Given the description of an element on the screen output the (x, y) to click on. 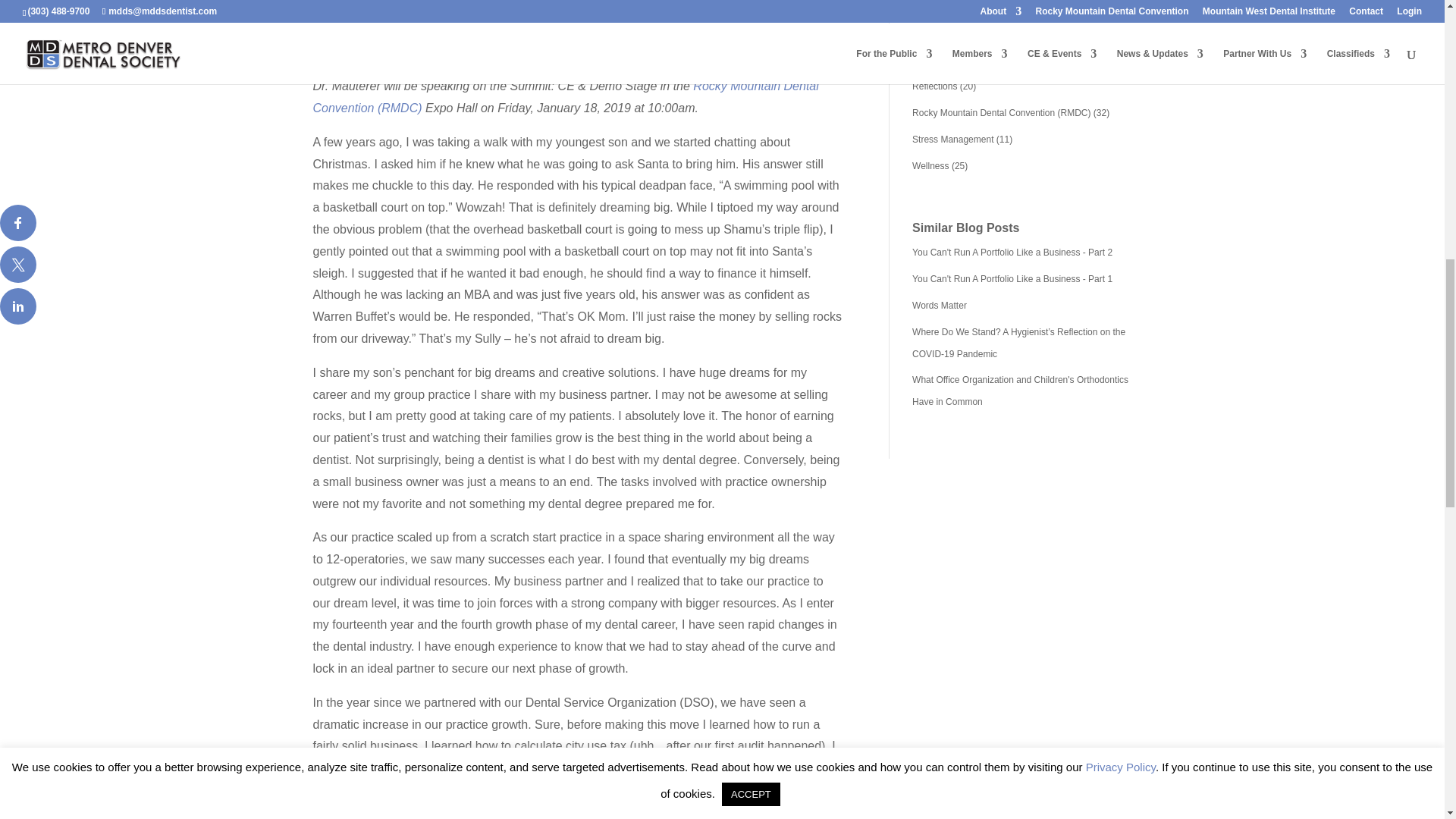
dreambig (578, 9)
